Given the description of an element on the screen output the (x, y) to click on. 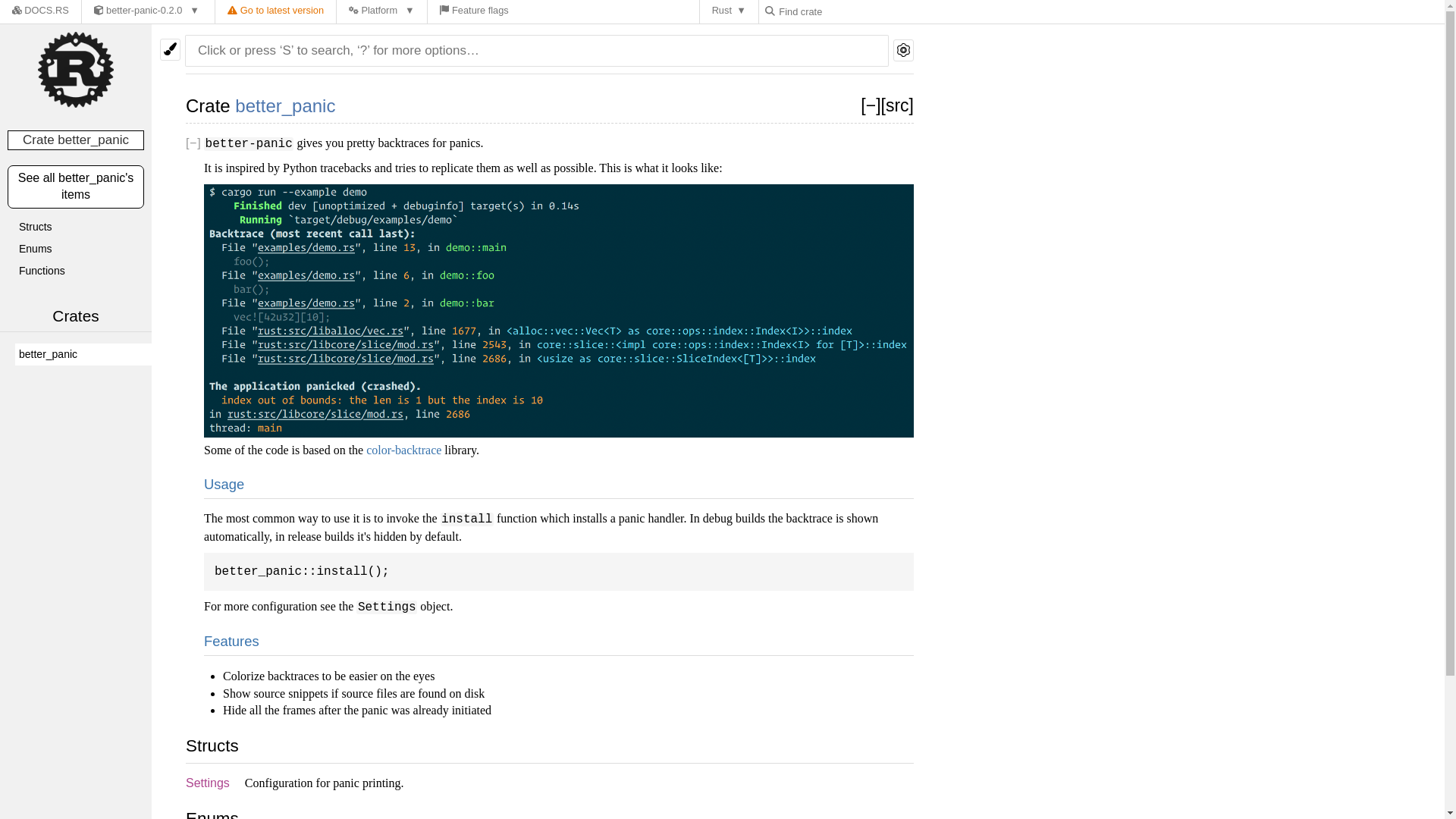
Enums (82, 249)
Functions (82, 270)
DOCS.RS (40, 11)
better-panic-0.2.0 (146, 11)
Go to latest version (275, 11)
goto source code (897, 105)
Browse available feature flags of better-panic-0.2.0 (474, 11)
Platform (381, 11)
Structs (82, 227)
Feature flags (474, 11)
